Given the description of an element on the screen output the (x, y) to click on. 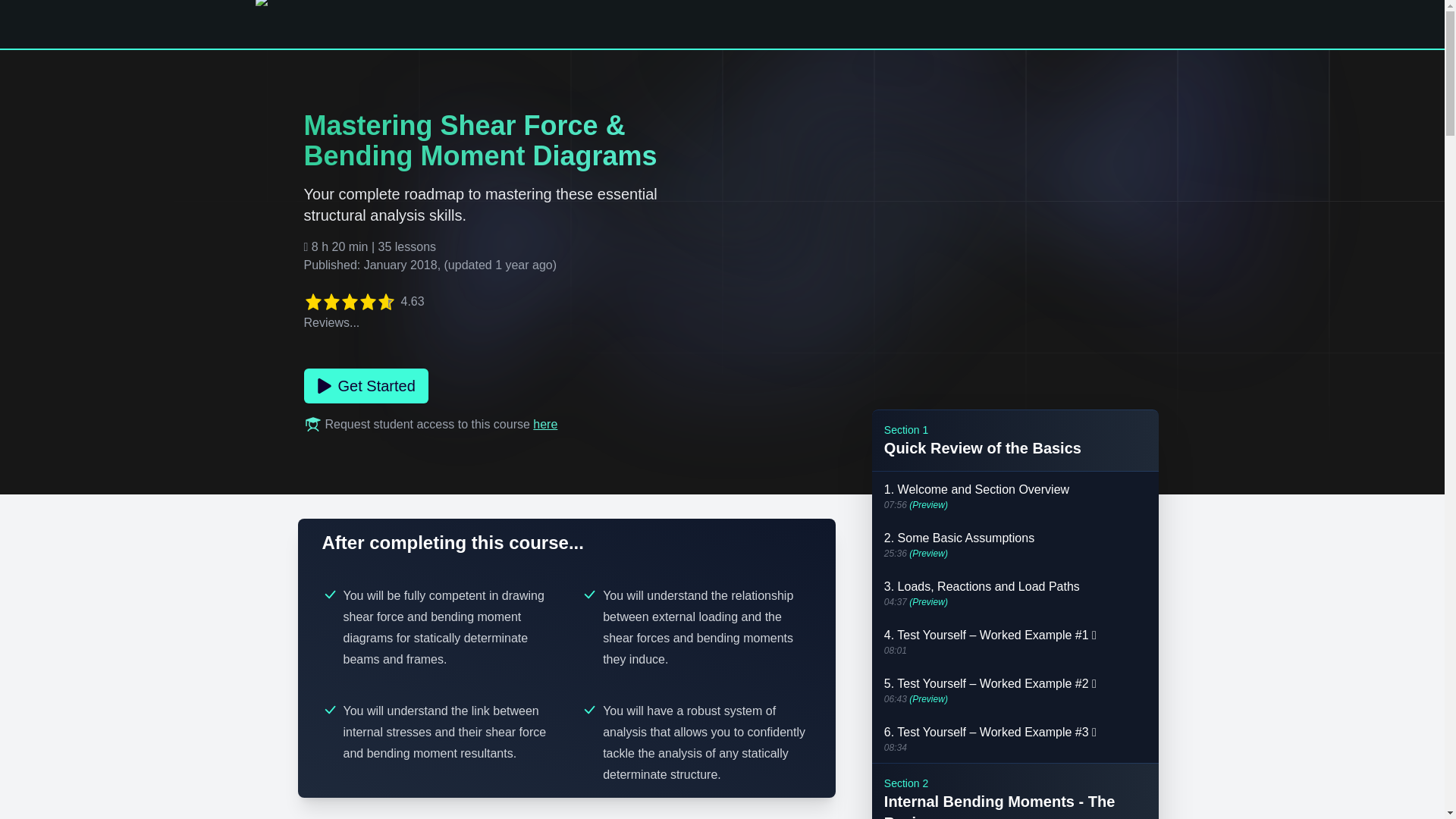
Reviews... (330, 322)
Get Started (365, 385)
here (544, 423)
